Given the description of an element on the screen output the (x, y) to click on. 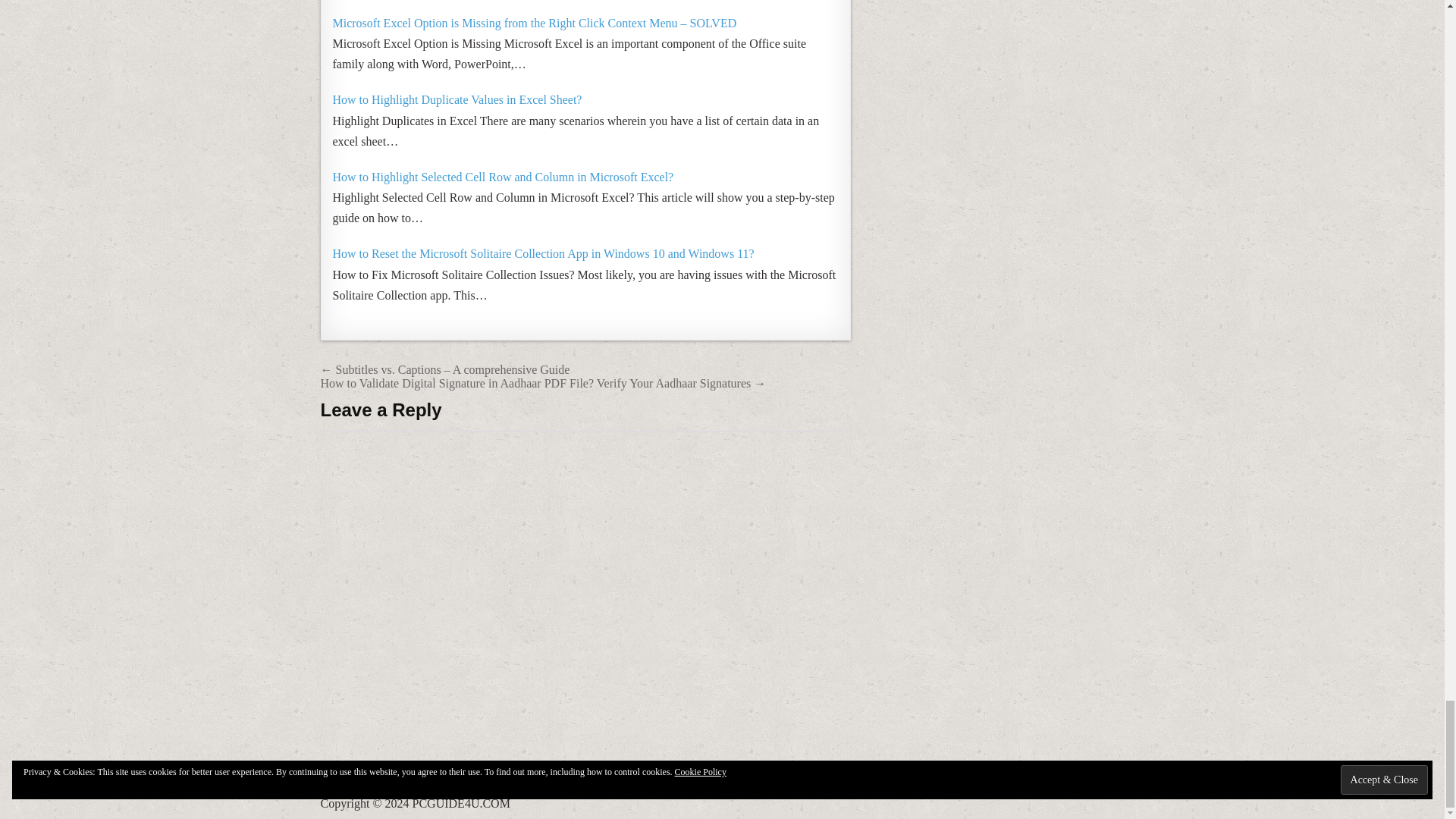
How to Highlight Duplicate Values in Excel Sheet? (455, 99)
